Given the description of an element on the screen output the (x, y) to click on. 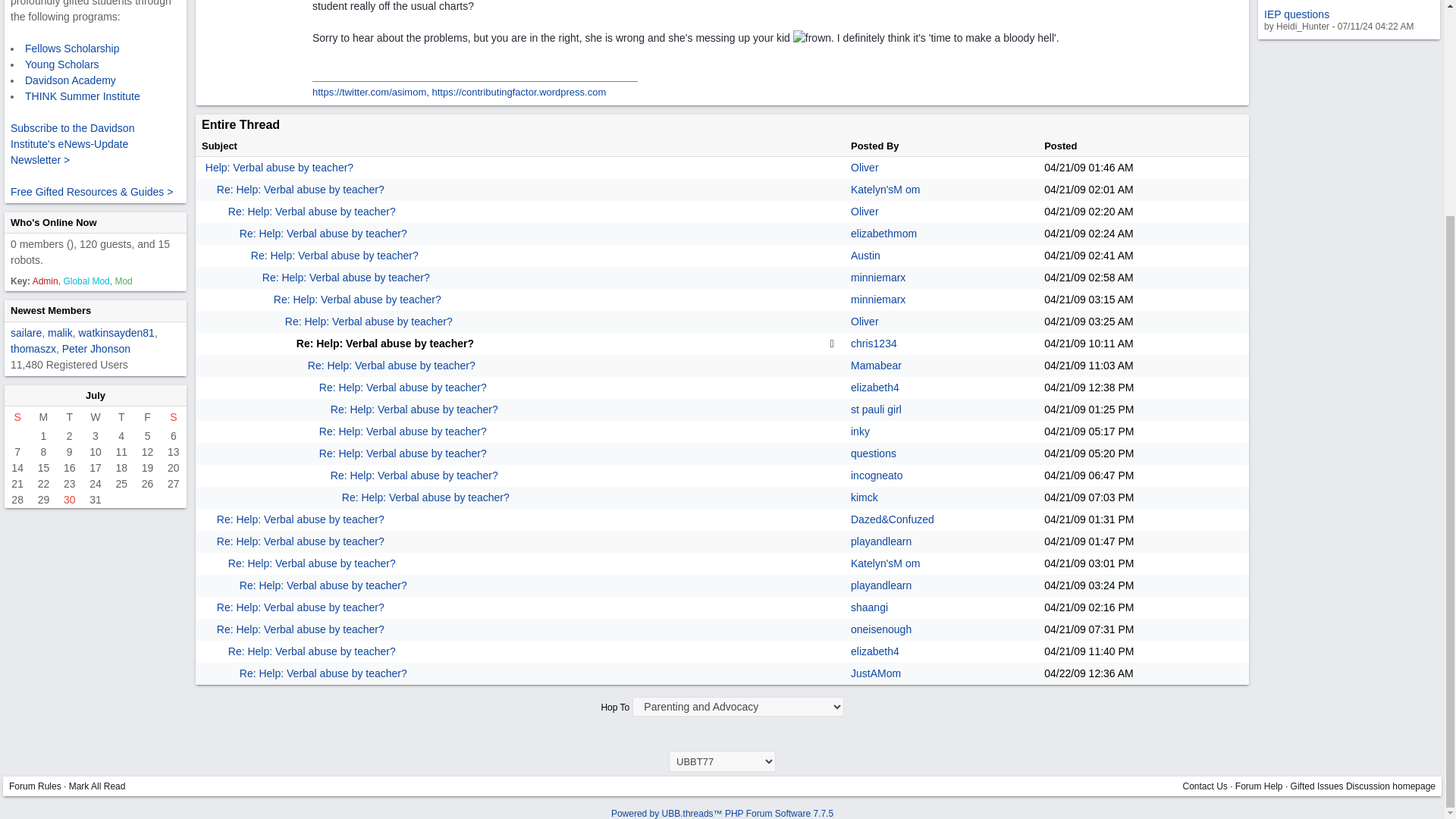
Peter Jhonson (96, 347)
Young Scholars (61, 64)
sailare (26, 332)
Fellows Scholarship (71, 47)
thomaszx (33, 347)
July (94, 394)
watkinsayden81 (116, 332)
THINK Summer Institute (81, 96)
Davidson Academy (70, 79)
Who's Online Now (53, 221)
Newest Members (50, 310)
malik (60, 332)
